Given the description of an element on the screen output the (x, y) to click on. 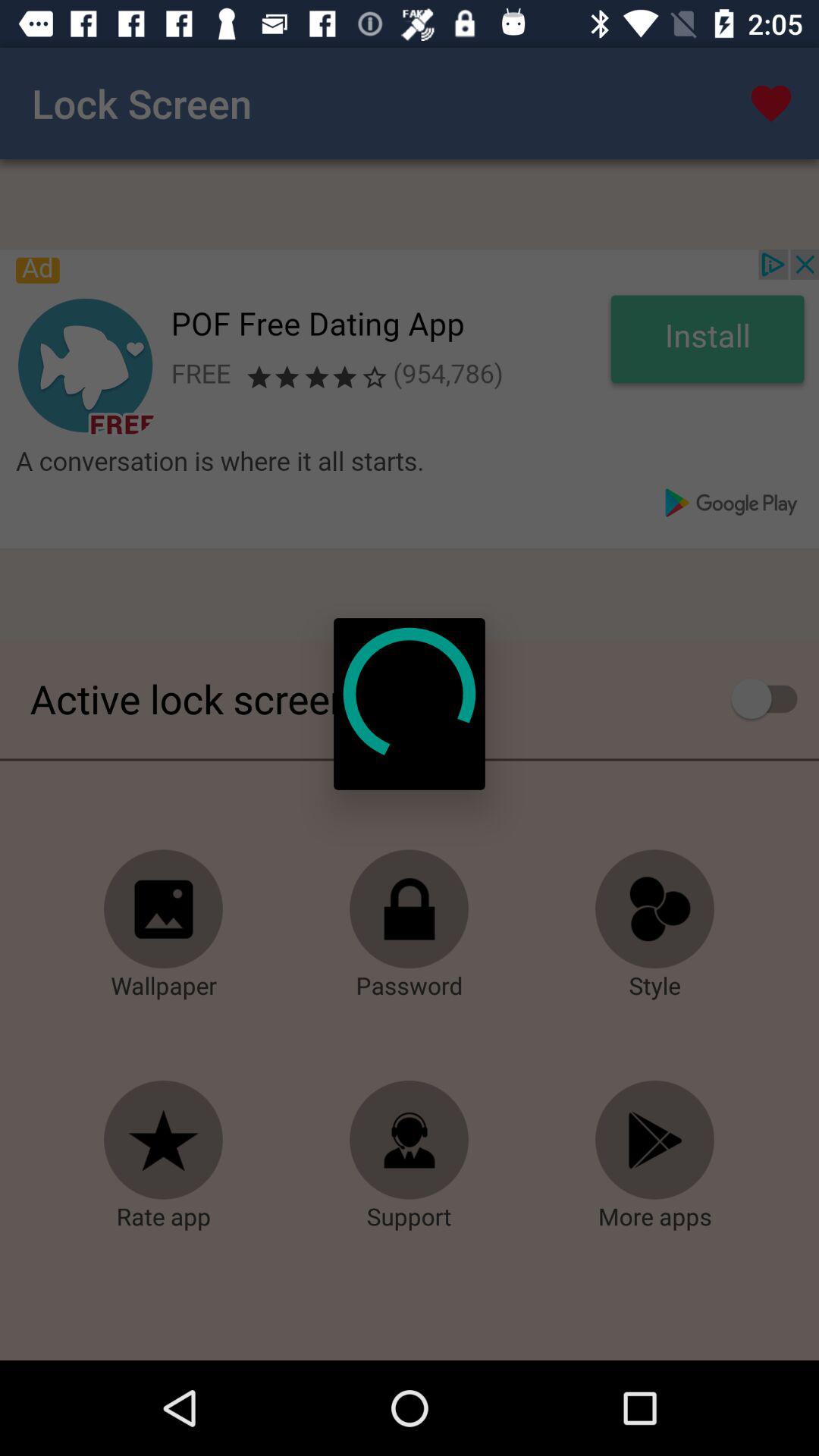
rate app icon (163, 1140)
